Given the description of an element on the screen output the (x, y) to click on. 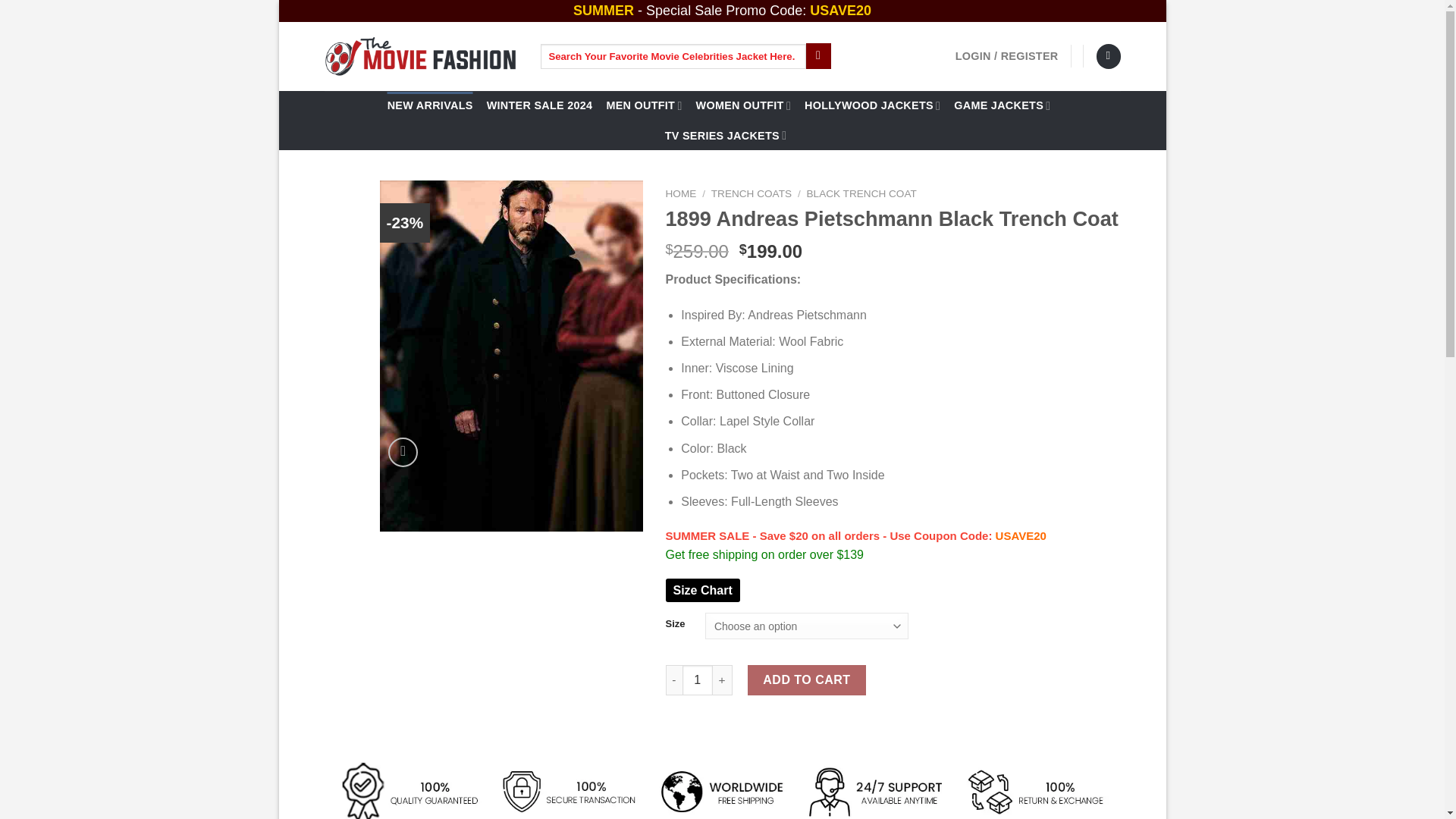
1 (697, 680)
Zoom (402, 451)
MEN OUTFIT (643, 105)
WOMEN OUTFIT (743, 105)
WINTER SALE 2024 (539, 104)
Search (818, 55)
NEW ARRIVALS (430, 104)
